Given the description of an element on the screen output the (x, y) to click on. 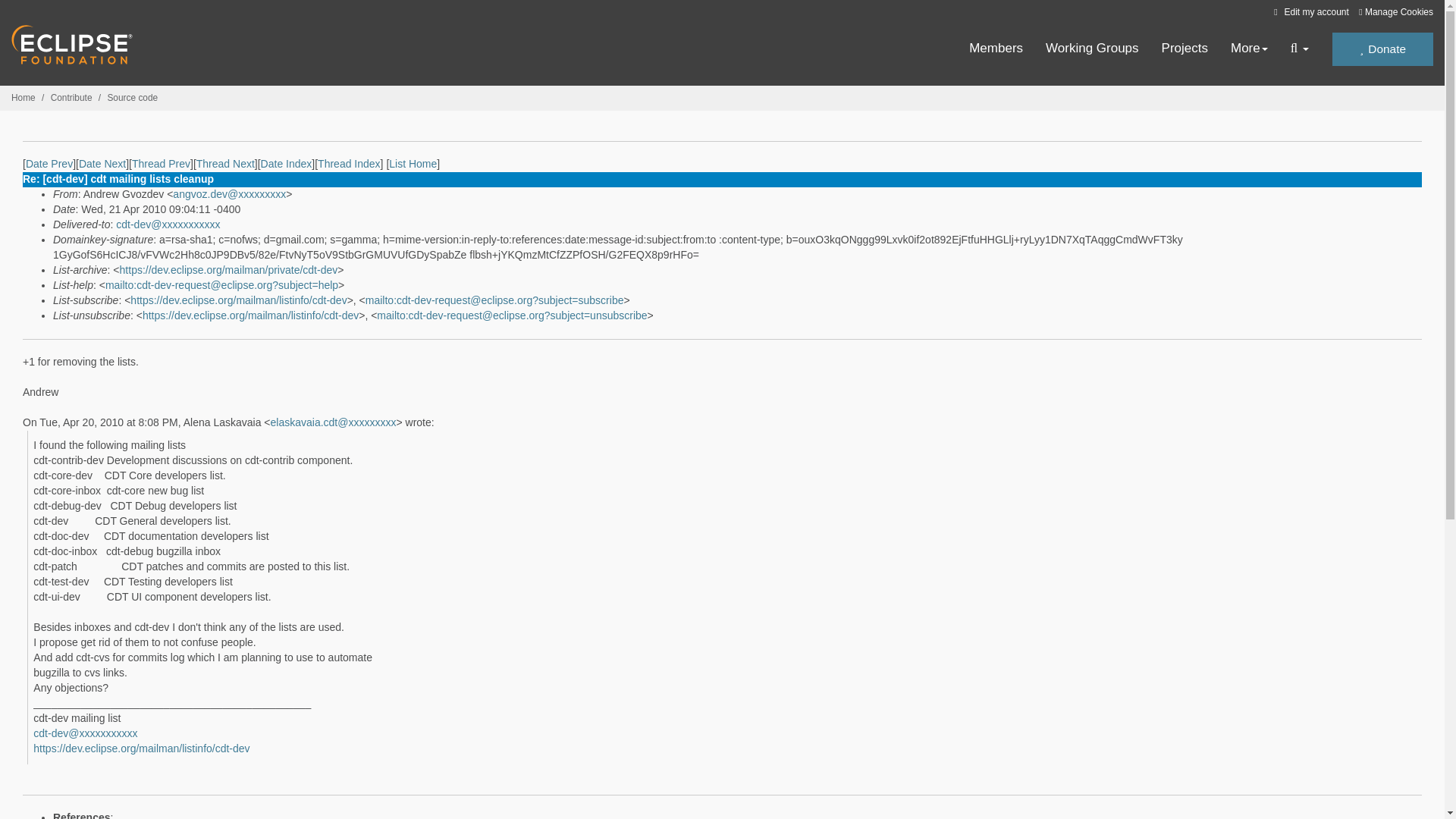
Projects (1184, 48)
Donate (1382, 49)
Manage Cookies (1395, 12)
Working Groups (1091, 48)
Members (996, 48)
More (1249, 48)
Edit my account (1309, 11)
